Given the description of an element on the screen output the (x, y) to click on. 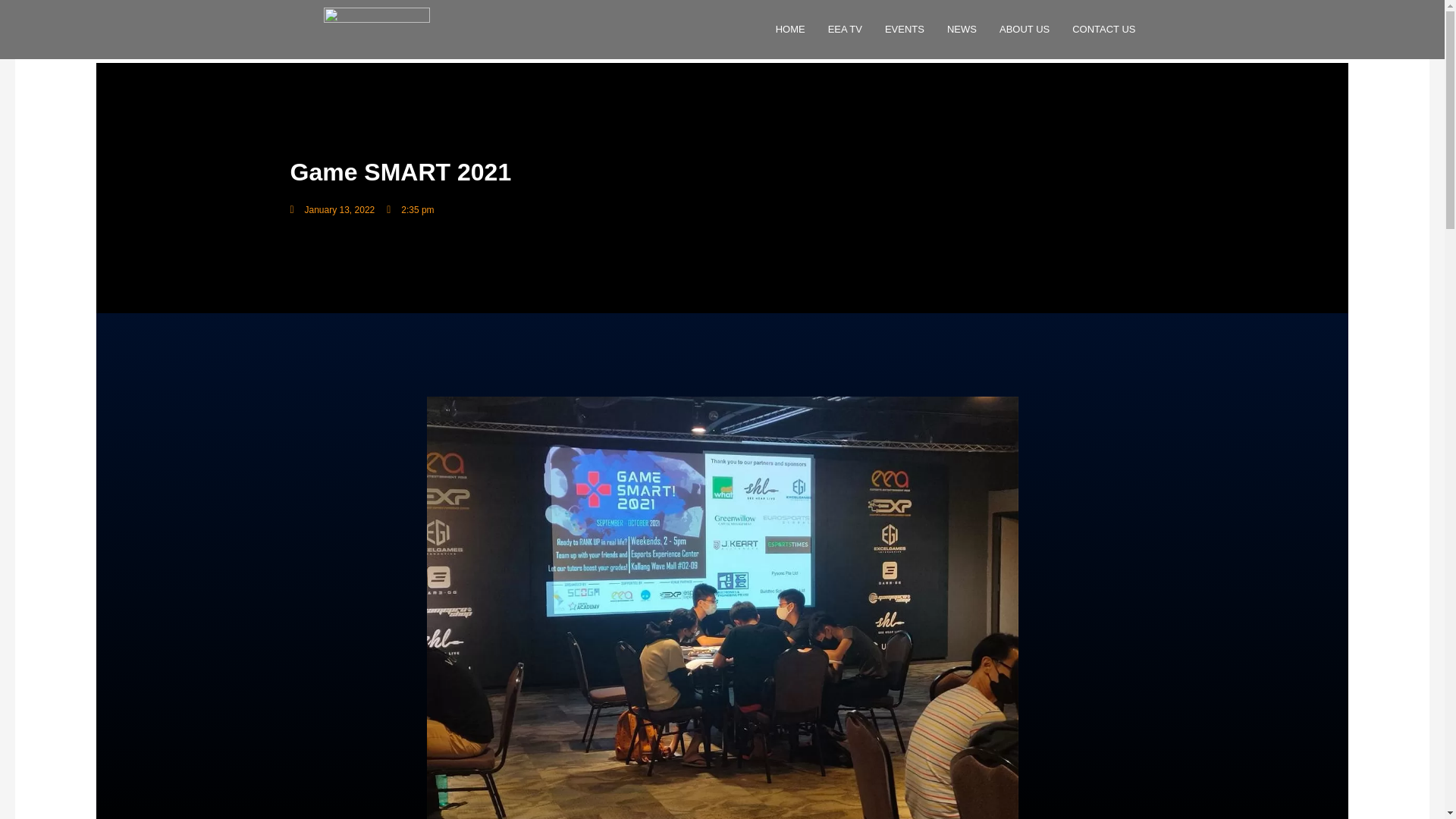
CONTACT US (1104, 29)
NEWS (962, 29)
January 13, 2022 (331, 209)
EEA TV (844, 29)
EVENTS (904, 29)
HOME (790, 29)
ABOUT US (1024, 29)
